Given the description of an element on the screen output the (x, y) to click on. 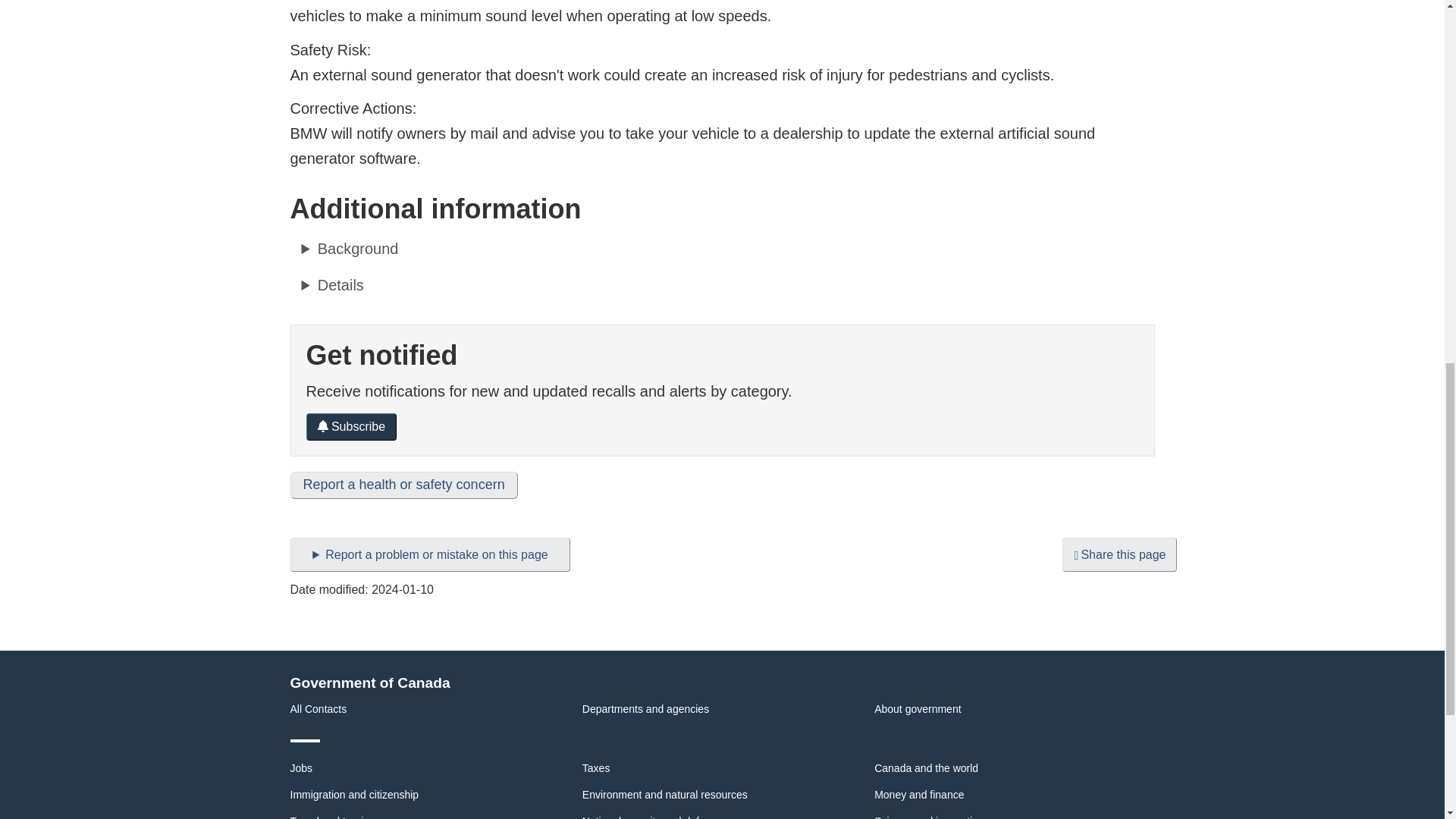
Departments and agencies (645, 708)
Environment and natural resources section. (665, 794)
Share this page (1119, 554)
Travel and tourism section. (333, 816)
Taxes section. (596, 767)
Immigration and citizenship (354, 794)
All Contacts section. (317, 708)
All Contacts (317, 708)
Jobs (301, 767)
Money and finance (919, 794)
Immigration and citizenship section. (354, 794)
Canada and the world (926, 767)
Subscribe (351, 426)
Science and innovation (929, 816)
About government (917, 708)
